Given the description of an element on the screen output the (x, y) to click on. 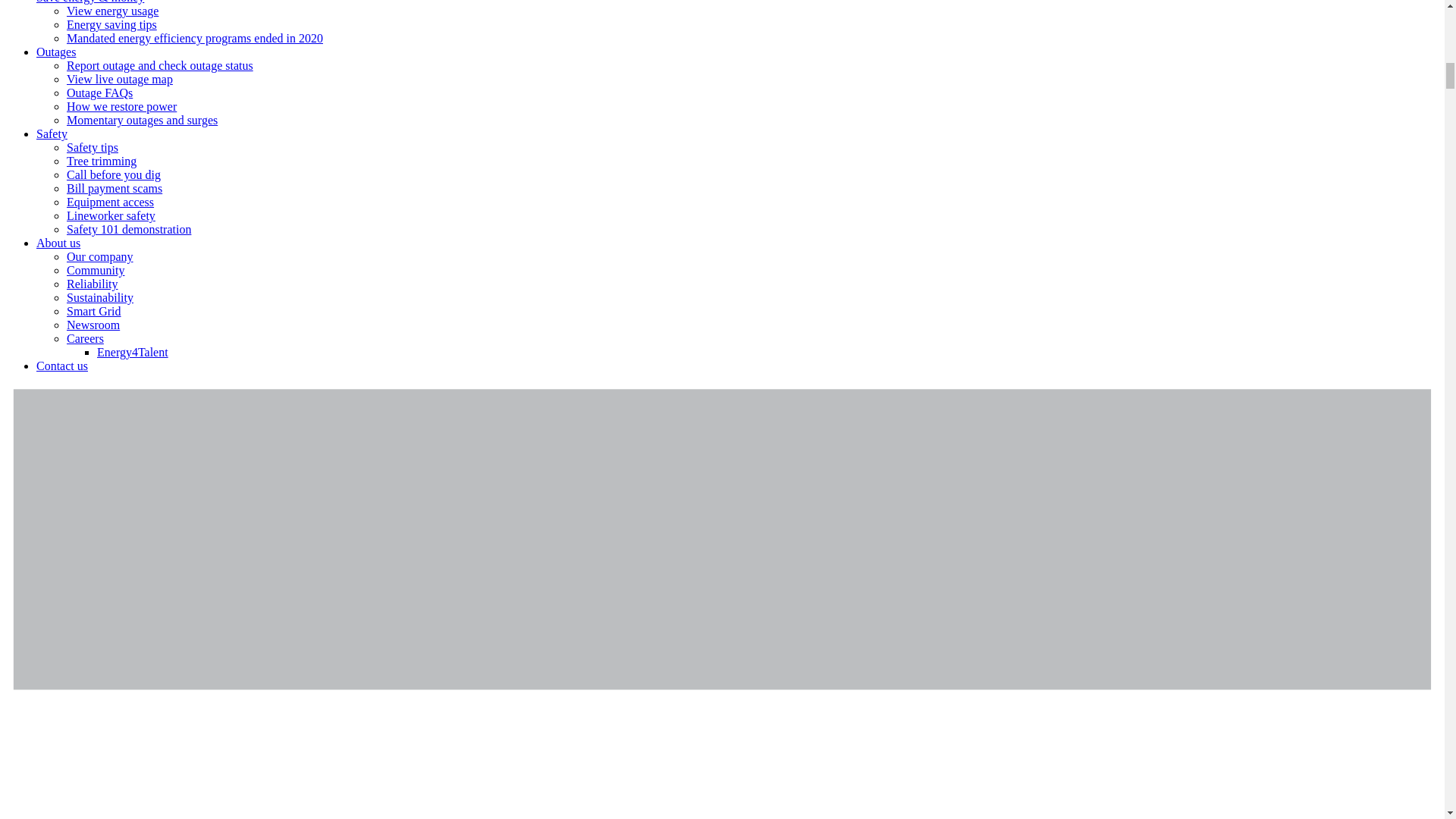
Energy saving tips (111, 24)
Report outage and check outage status (159, 65)
Safety tips (91, 146)
Energy4Talent (132, 351)
Reliability (91, 283)
Equipment access (110, 201)
Tree trimming (101, 160)
Outage FAQs (99, 92)
Smart Grid (93, 310)
Mandated energy efficiency programs ended in 2020 (194, 38)
View live outage map (119, 78)
Careers (84, 338)
Momentary outages and surges (141, 119)
Outage FAQs (99, 92)
Energy saving tips (111, 24)
